Given the description of an element on the screen output the (x, y) to click on. 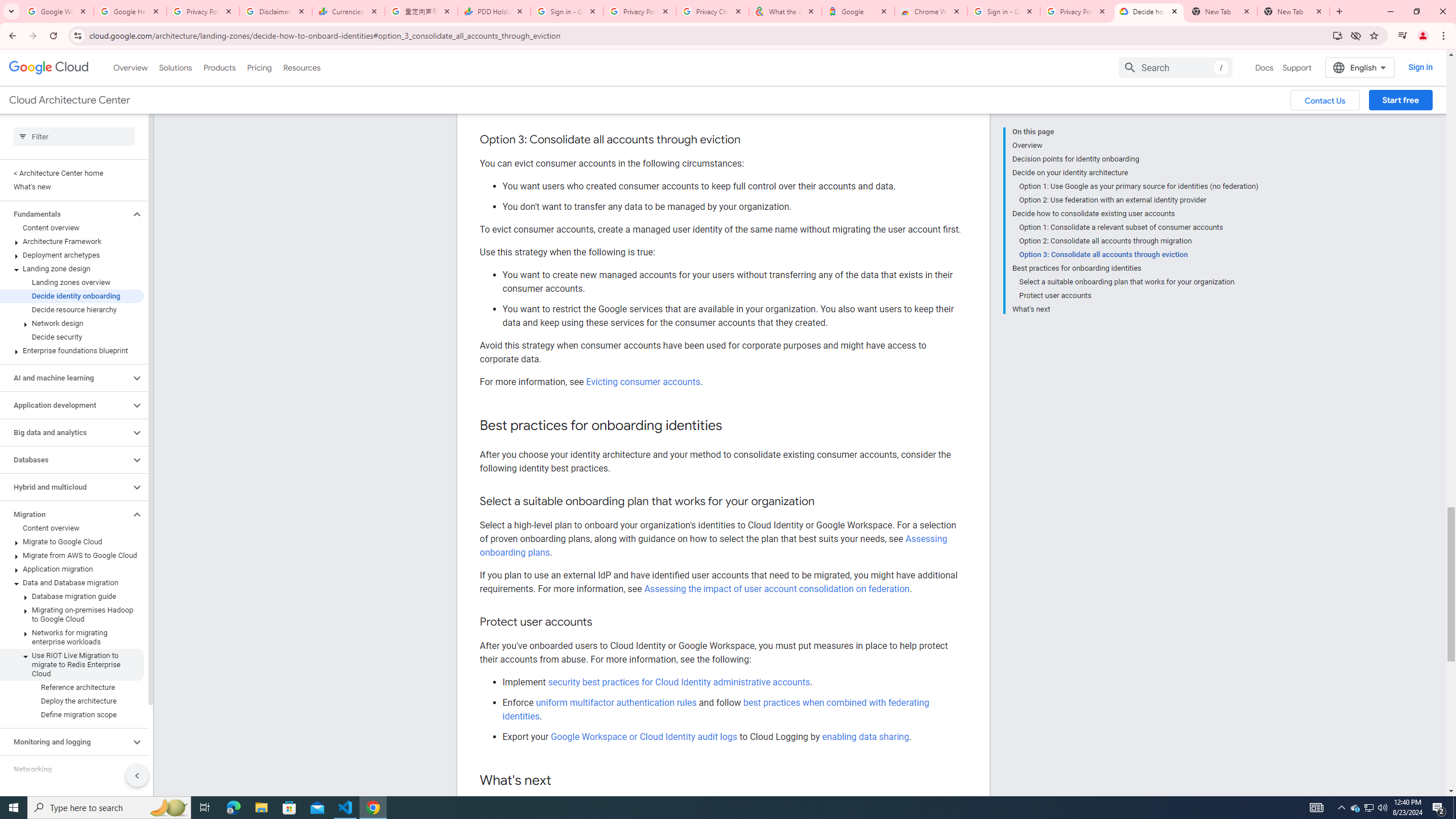
Application development (64, 404)
Google (857, 11)
Option 3: Consolidate all accounts through eviction (1138, 254)
Option 2: Use federation with an external identity provider (1138, 200)
Big data and analytics (64, 432)
Networks for migrating enterprise workloads (72, 637)
Pricing (259, 67)
Application migration (72, 568)
Fundamentals (64, 214)
What's next (1134, 307)
Deployment archetypes (72, 255)
